Given the description of an element on the screen output the (x, y) to click on. 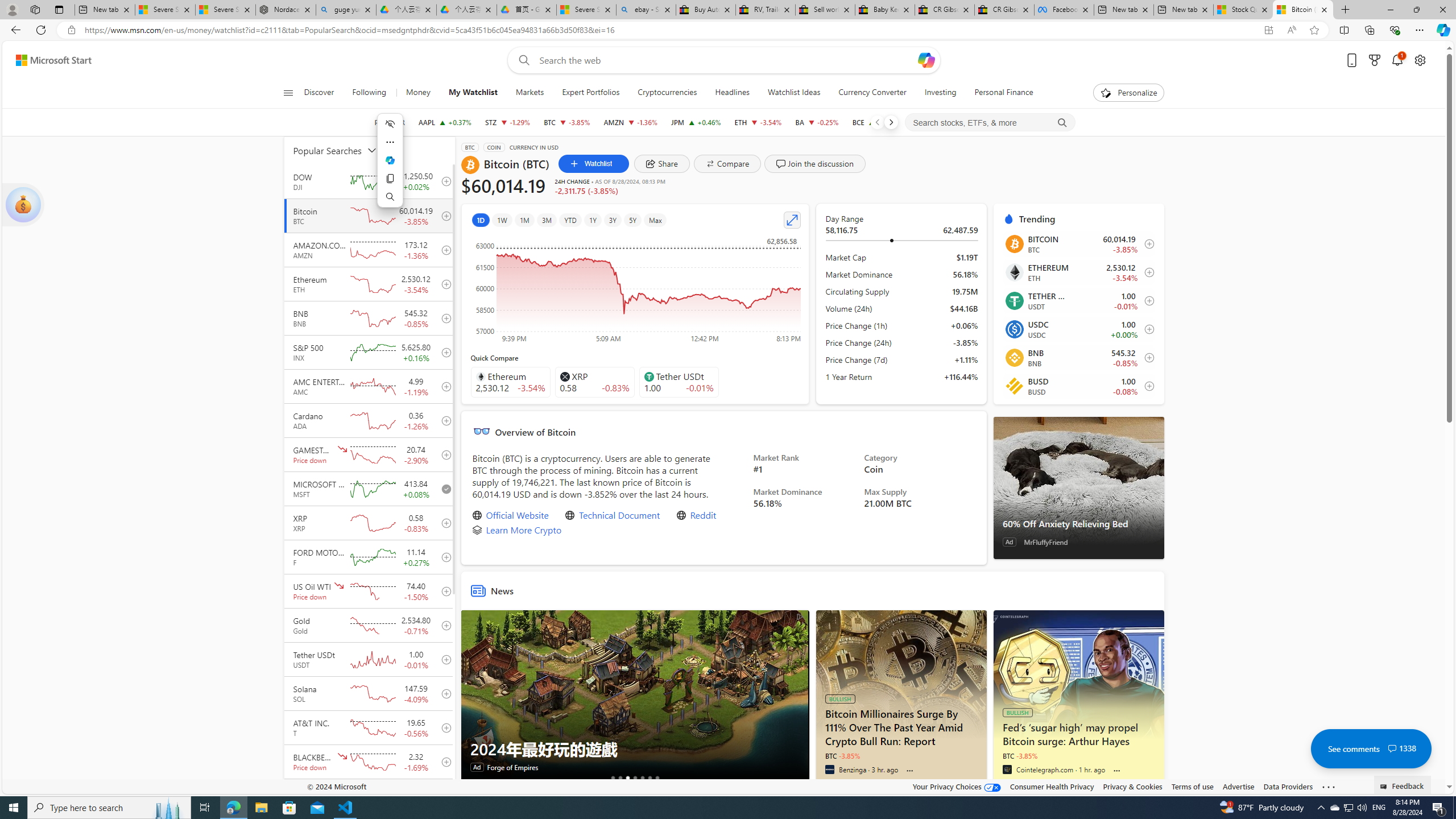
Official Website (517, 515)
3Y (611, 219)
Privacy & Cookies (1131, 786)
Privacy & Cookies (1131, 785)
Skip to footer (46, 59)
Consumer Health Privacy (1051, 785)
Search stocks, ETFs, & more (989, 122)
Skip to content (49, 59)
My Watchlist (472, 92)
guge yunpan - Search (346, 9)
Facebook (1064, 9)
